Given the description of an element on the screen output the (x, y) to click on. 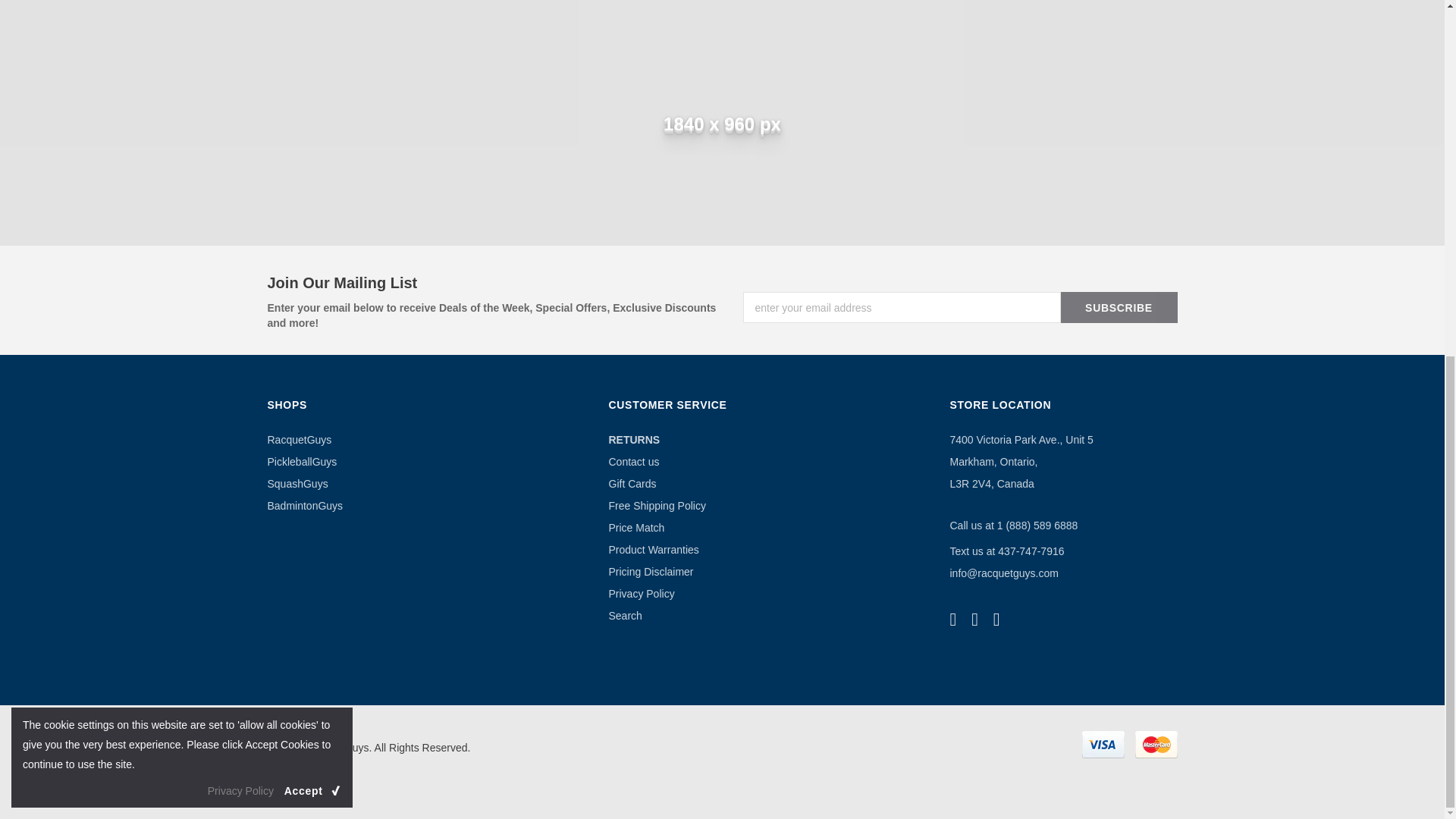
Subscribe (1117, 306)
SquashGuys (296, 482)
PickleballGuys (301, 461)
BadmintonGuys (304, 505)
RacquetGuys (298, 439)
